Given the description of an element on the screen output the (x, y) to click on. 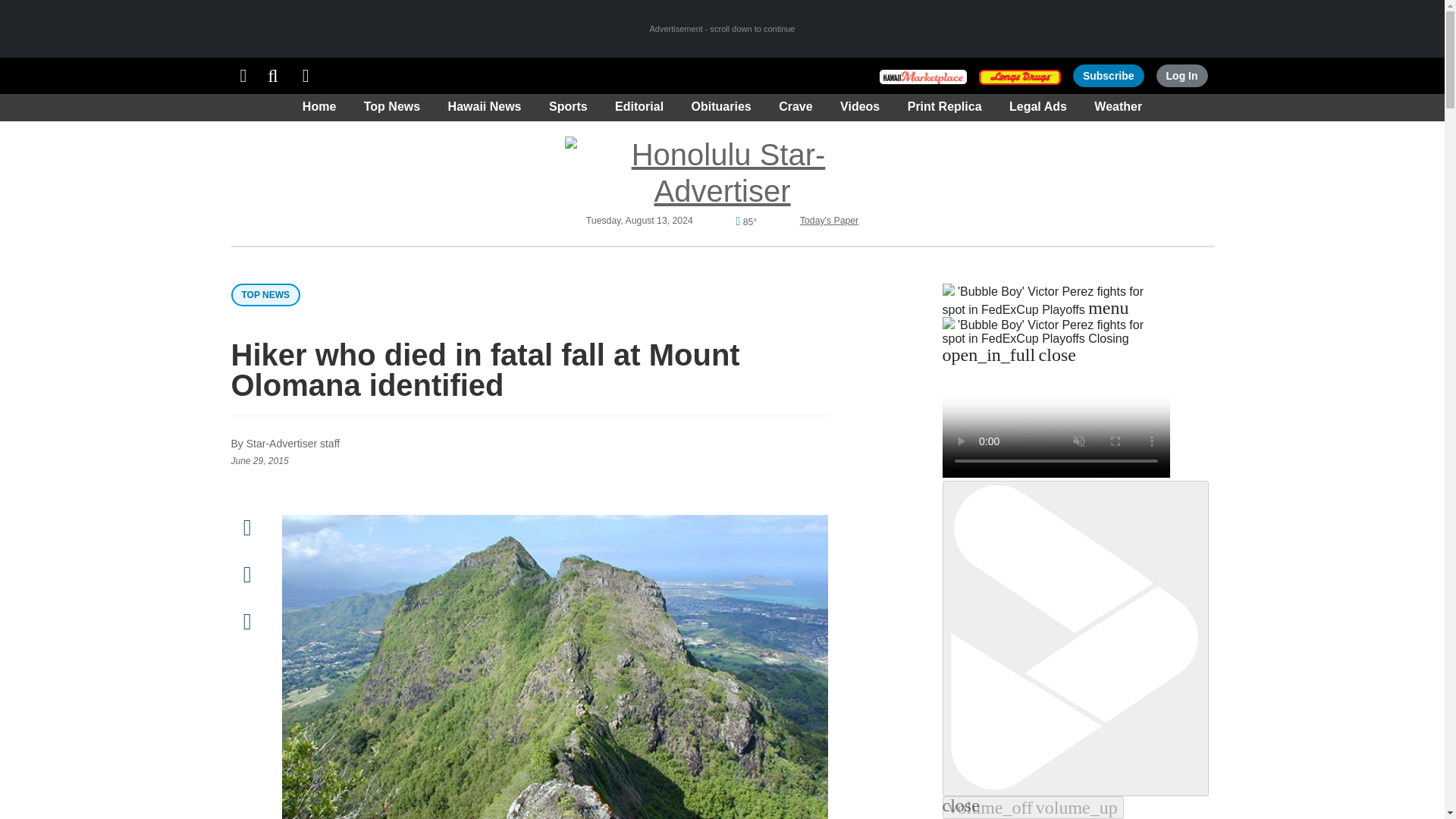
Print Replica (306, 75)
Honolulu Star-Advertiser (721, 172)
Log In (1182, 75)
Sections (243, 75)
Search (272, 75)
Subscribe (1108, 75)
